Given the description of an element on the screen output the (x, y) to click on. 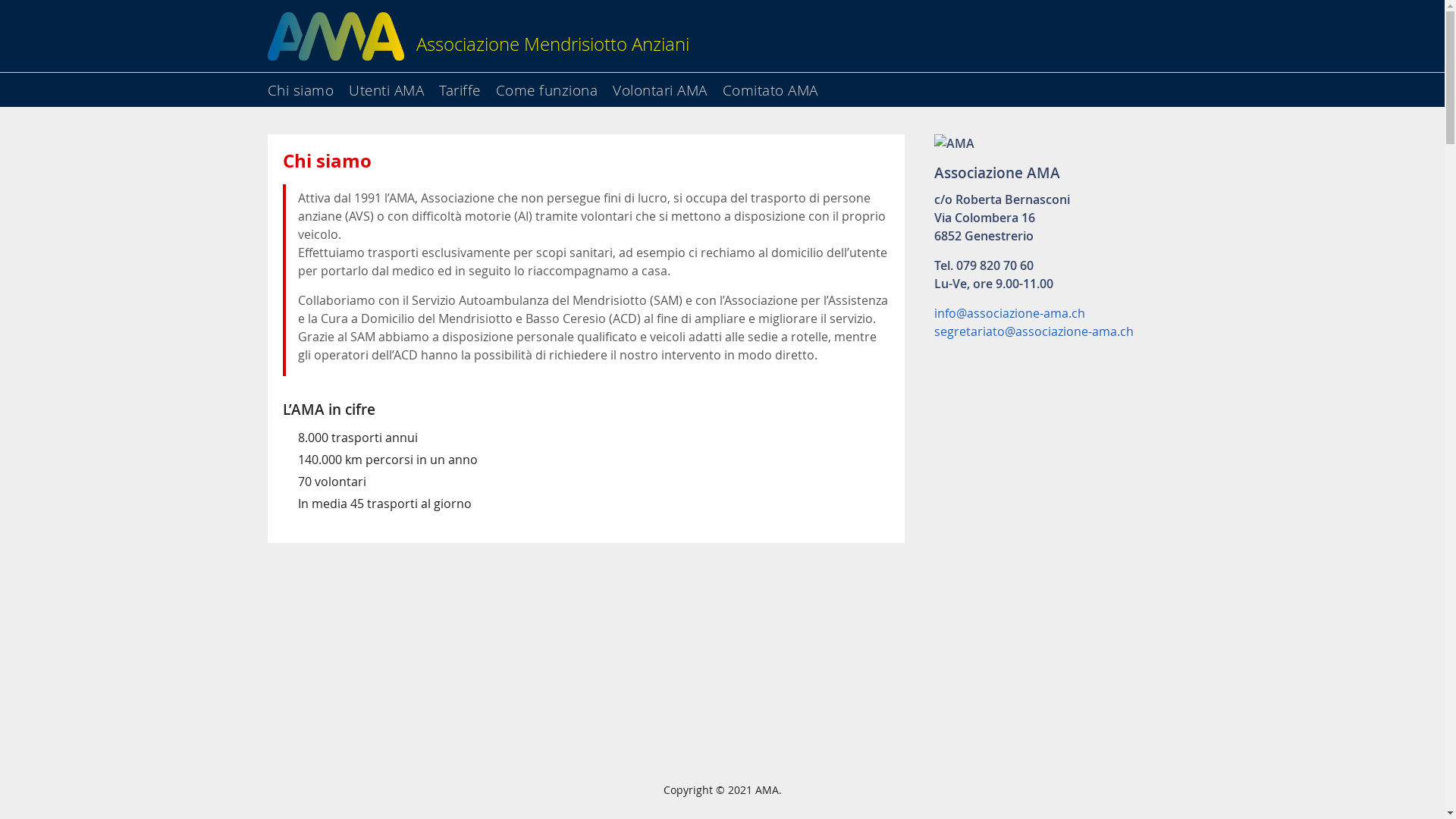
Tariffe Element type: text (465, 84)
VOLONTARI AMA Element type: text (1353, 256)
info@associazione-ama.ch Element type: text (1009, 312)
UTENTI AMA Element type: text (1353, 133)
COME FUNZIONA Element type: text (1353, 215)
Comitato AMA Element type: text (775, 84)
Come funziona Element type: text (552, 84)
Chi siamo Element type: text (305, 84)
CHI SIAMO Element type: text (1353, 92)
segretariato@associazione-ama.ch Element type: text (1033, 331)
COMITATO AMA Element type: text (1353, 297)
CONTATTI Element type: text (1353, 338)
TARIFFE Element type: text (1353, 174)
Volontari AMA Element type: text (665, 84)
Utenti AMA Element type: text (392, 84)
